Given the description of an element on the screen output the (x, y) to click on. 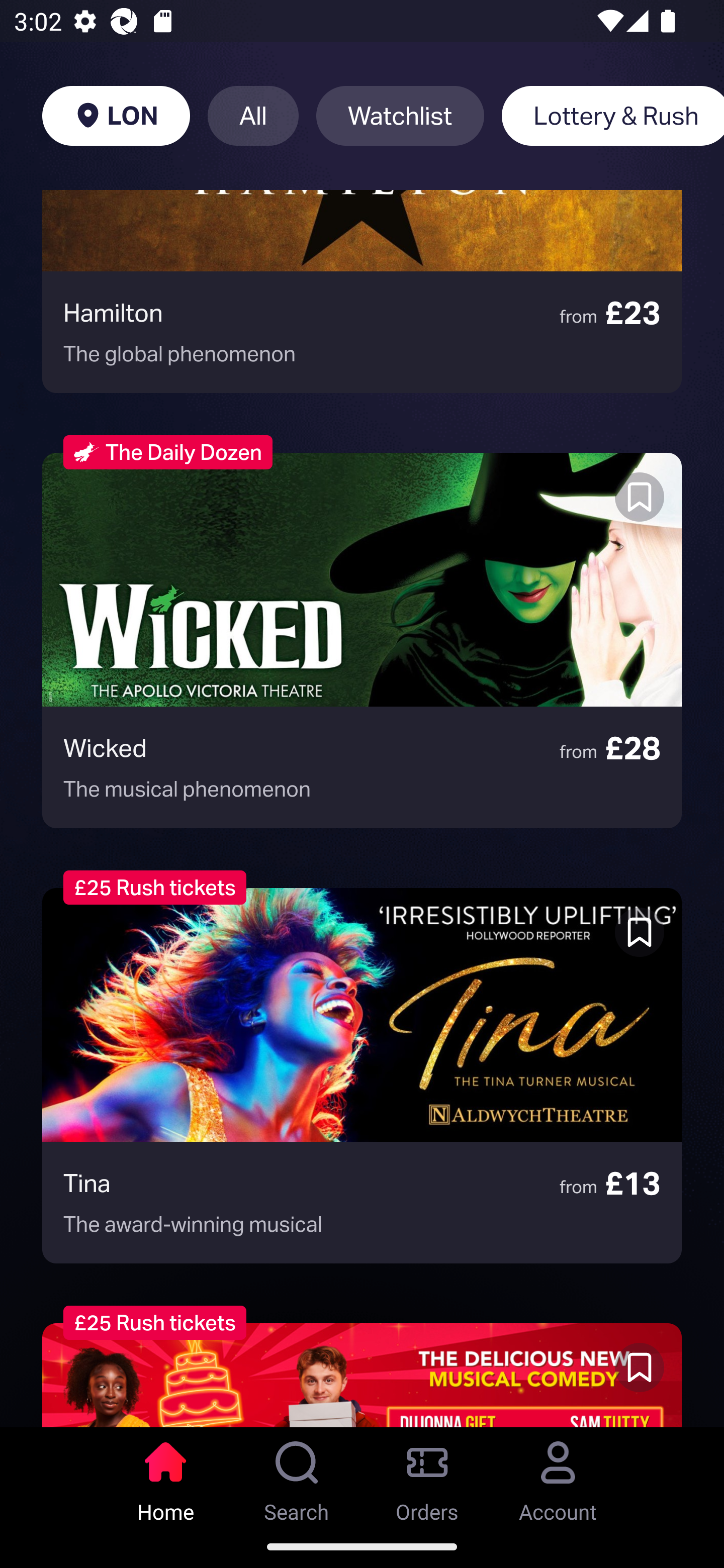
LON (115, 115)
All (252, 115)
Watchlist (400, 115)
Lottery & Rush (612, 115)
Hamilton from £23 The global phenomenon (361, 291)
Wicked from £28 The musical phenomenon (361, 640)
Tina from £13 The award-winning musical (361, 1075)
Search (296, 1475)
Orders (427, 1475)
Account (558, 1475)
